Given the description of an element on the screen output the (x, y) to click on. 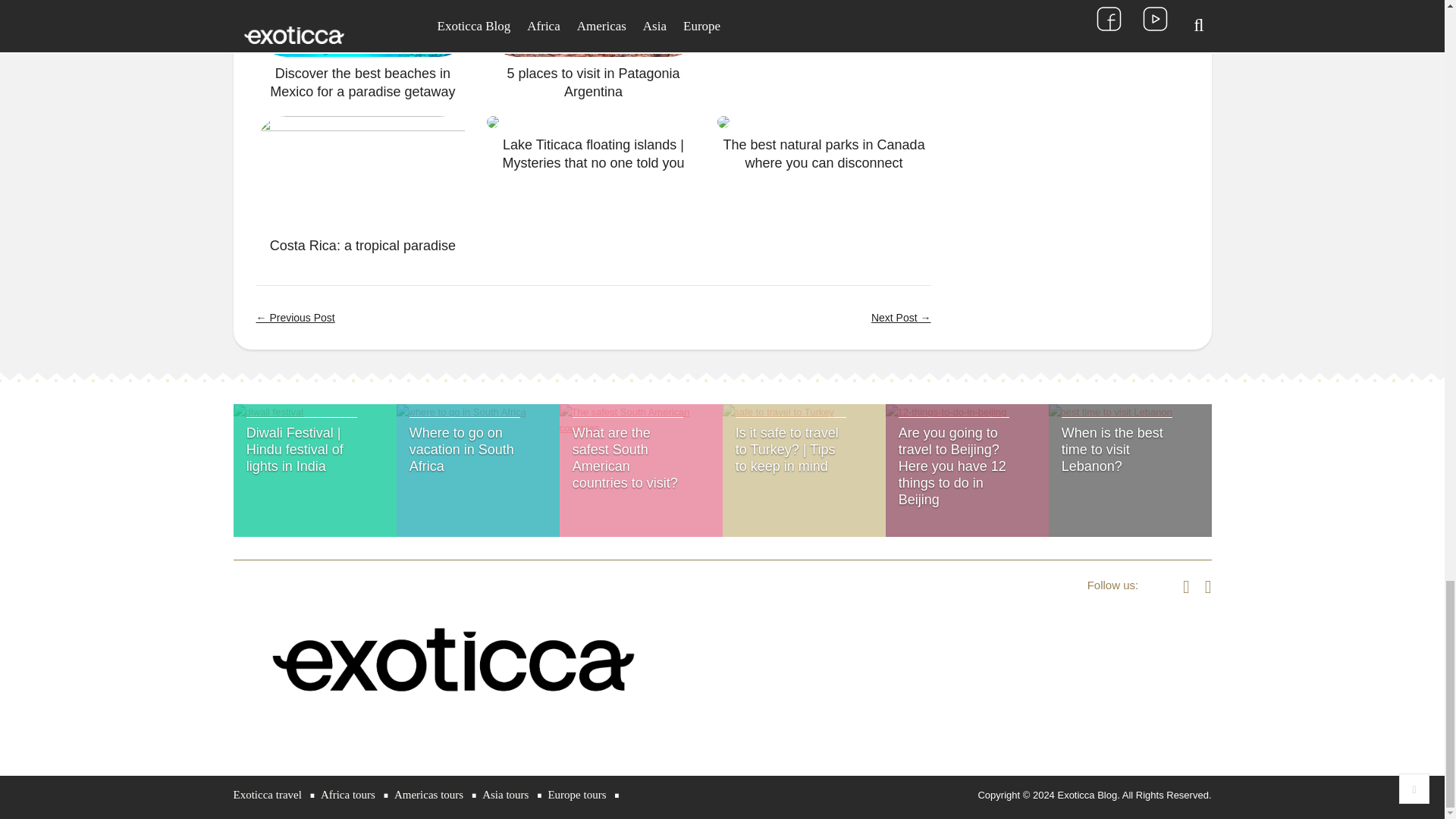
5 places to visit in Patagonia Argentina (592, 82)
Discover the best beaches in Mexico for a paradise getaway (363, 28)
Discover the best beaches in Mexico for a paradise getaway (361, 82)
5 places to visit in Patagonia Argentina (592, 82)
Discover the best beaches in Mexico for a paradise getaway (361, 82)
Costa Rica: a tropical paradise (362, 245)
5 places to visit in Patagonia Argentina (593, 28)
